Given the description of an element on the screen output the (x, y) to click on. 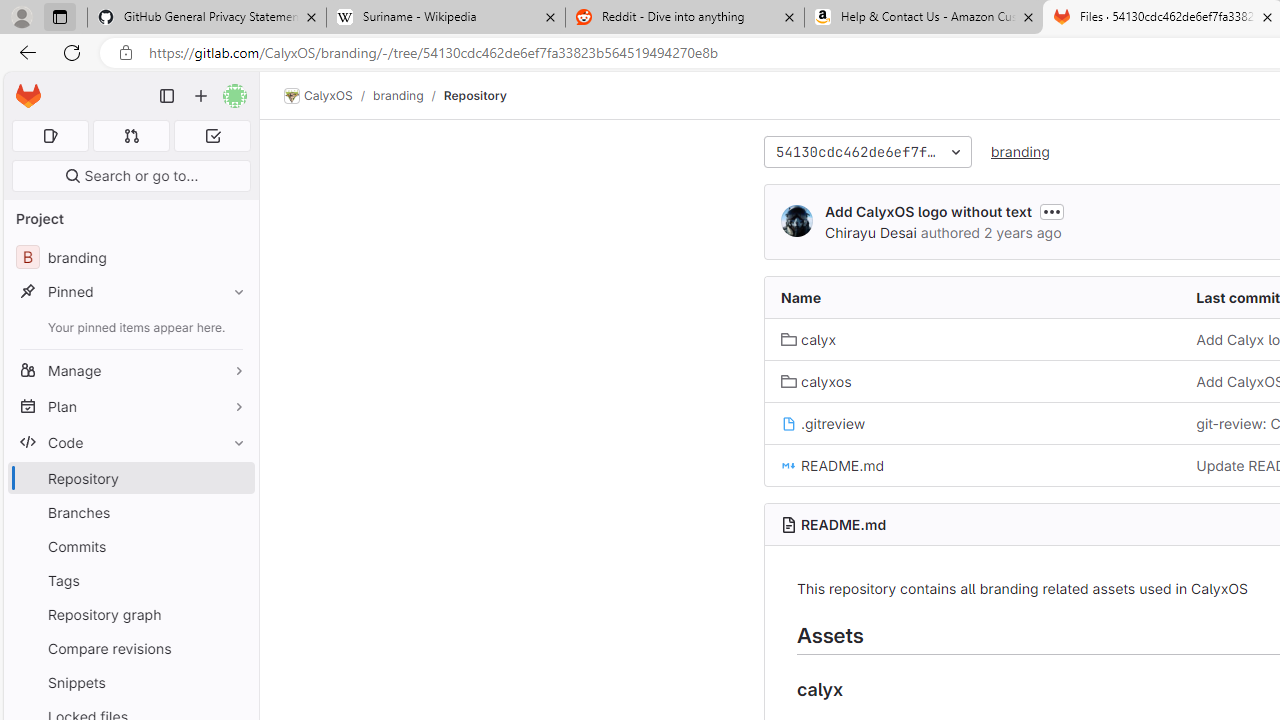
calyx (808, 339)
Pin Tags (234, 580)
Reddit - Dive into anything (684, 17)
Manage (130, 370)
Commits (130, 546)
Pin Repository (234, 478)
Code (130, 442)
Repository graph (130, 614)
Bbranding (130, 257)
Repository (474, 95)
Branches (130, 512)
Tags (130, 579)
To-Do list 0 (212, 136)
Name (973, 297)
.gitreview (823, 423)
